Given the description of an element on the screen output the (x, y) to click on. 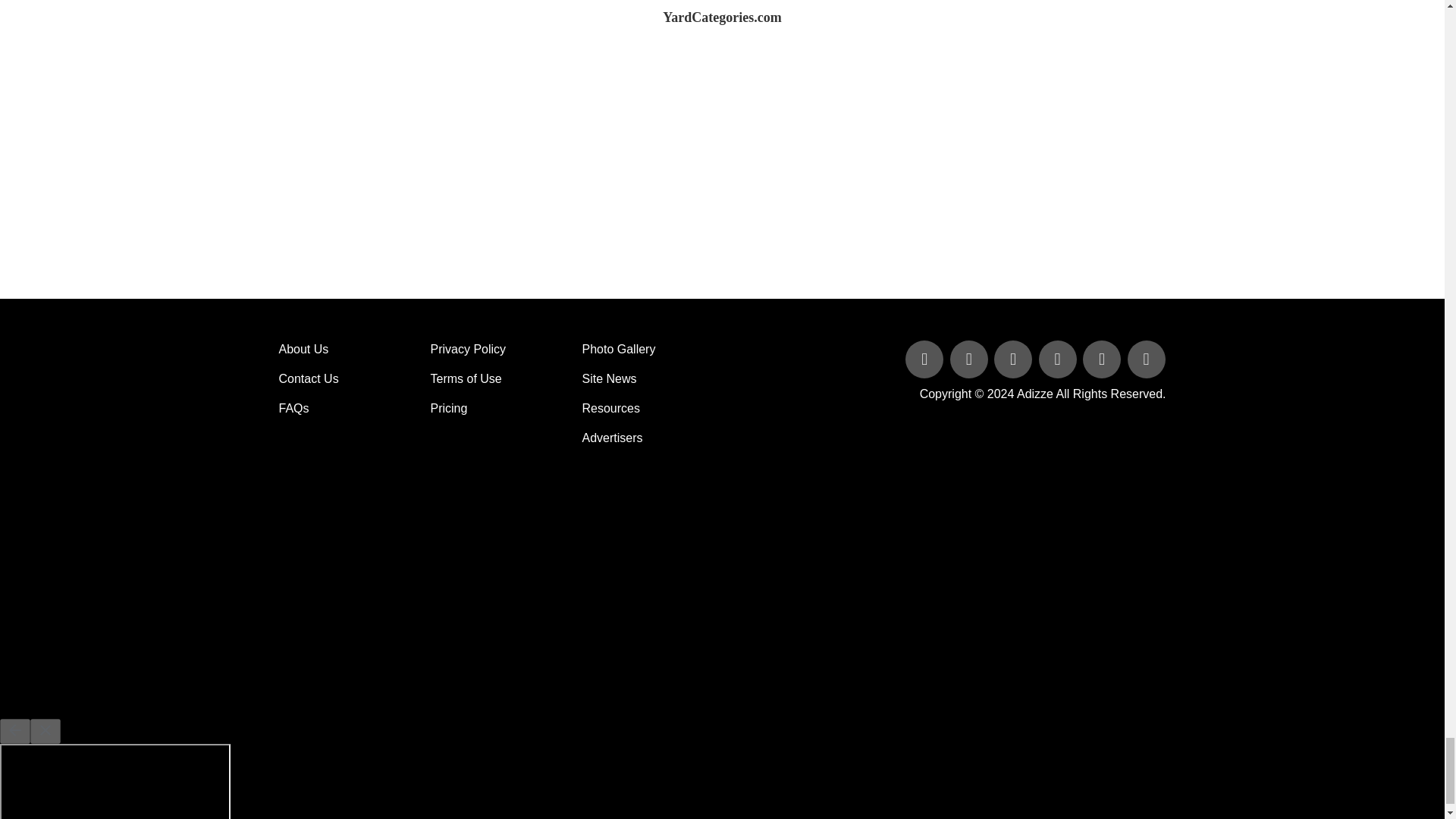
Follow Us on Linked In (1014, 359)
Follow Us on You Tube (1058, 359)
Follow Us on Twitter (970, 359)
Follow Us on Instagram (1145, 359)
Follow Us on Facebook (925, 359)
Follow Us on Pinterest (1103, 359)
